Given the description of an element on the screen output the (x, y) to click on. 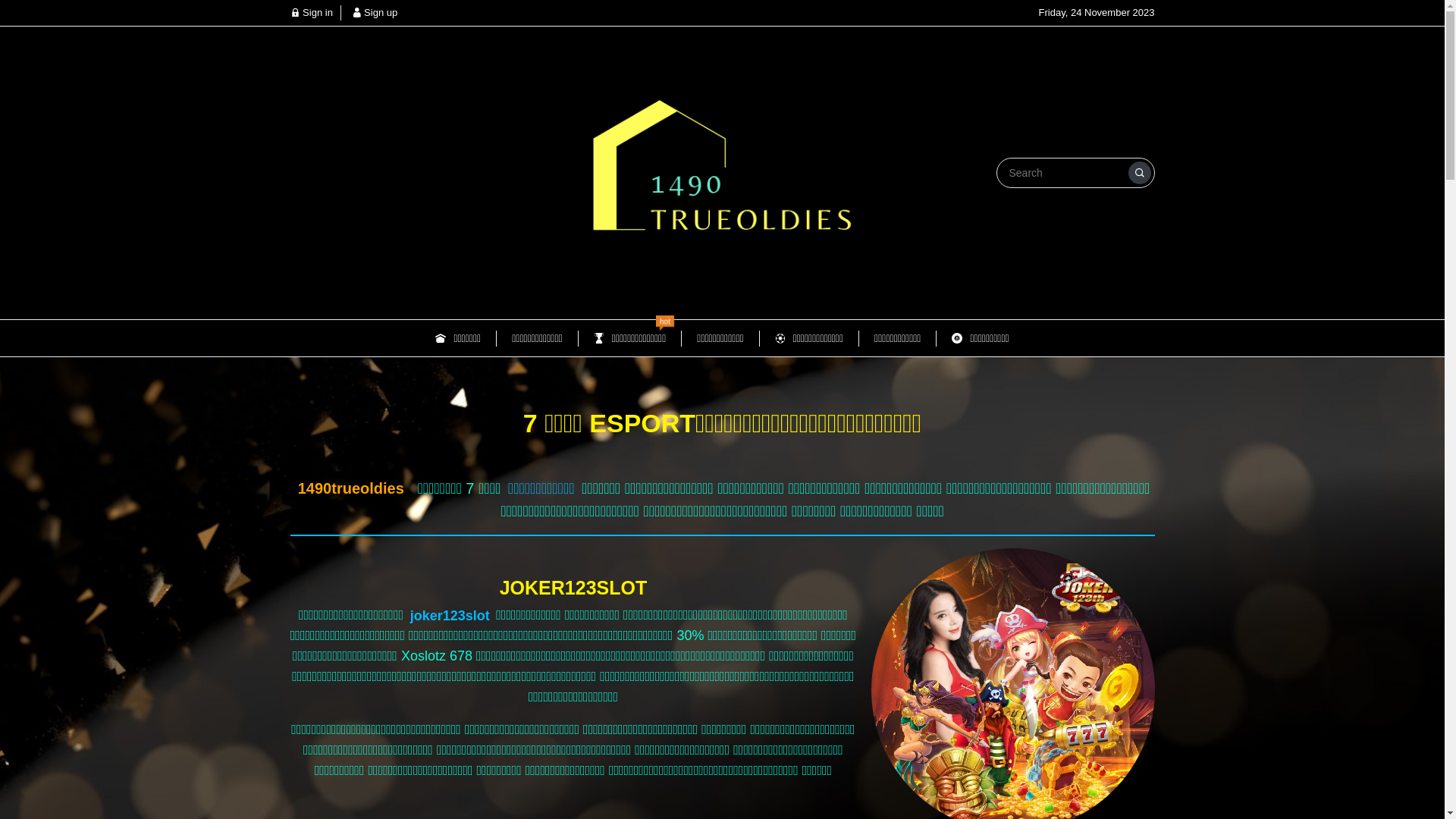
Sign up Element type: text (374, 12)
joker123slot Element type: text (449, 615)
Sign in Element type: text (310, 12)
